Given the description of an element on the screen output the (x, y) to click on. 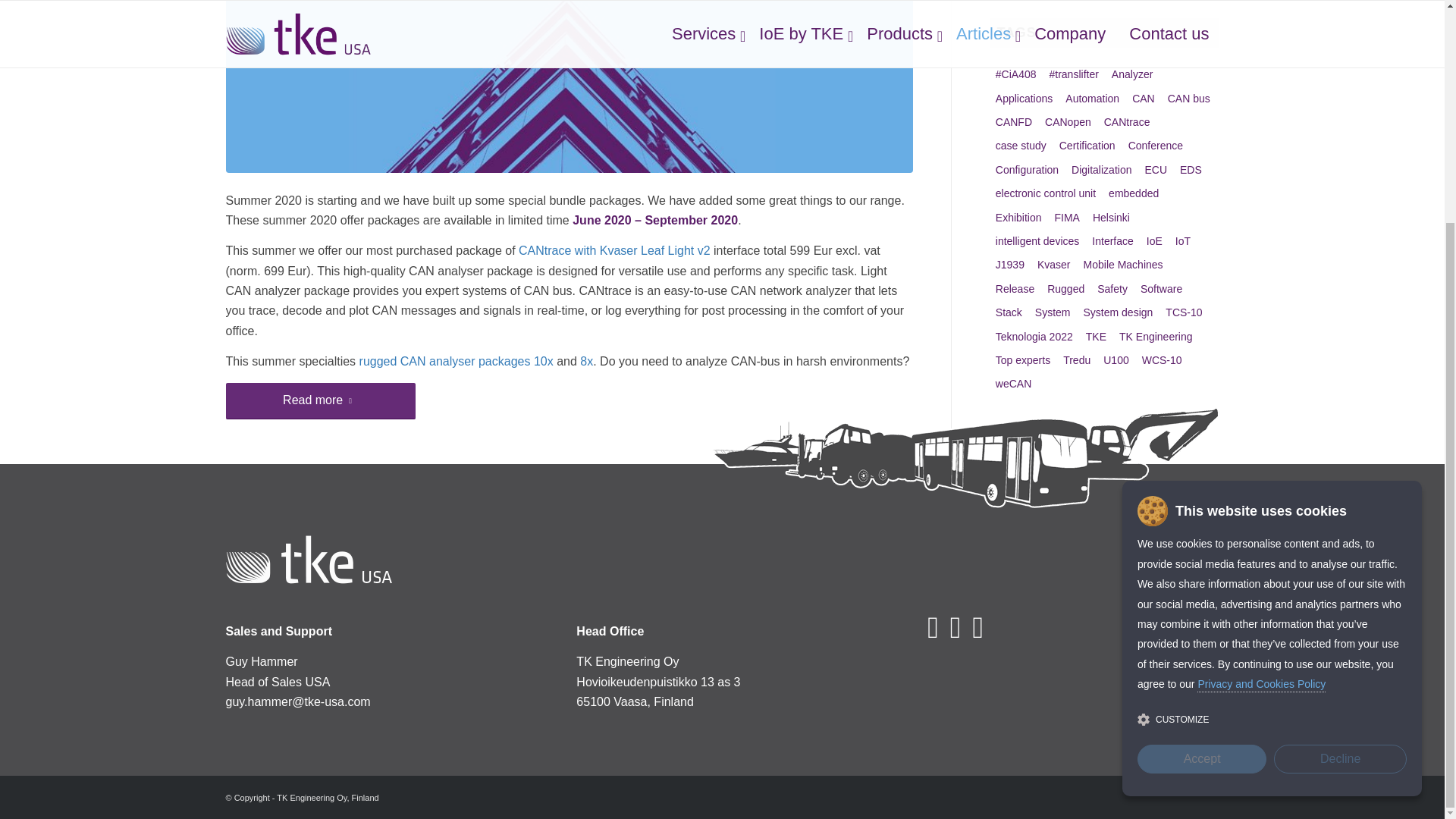
Read more (319, 401)
8x (585, 360)
Analyzer (1131, 74)
CANtrace with Kvaser Leaf Light v2 (614, 250)
rugged CAN analyser packages 10x (456, 360)
